Given the description of an element on the screen output the (x, y) to click on. 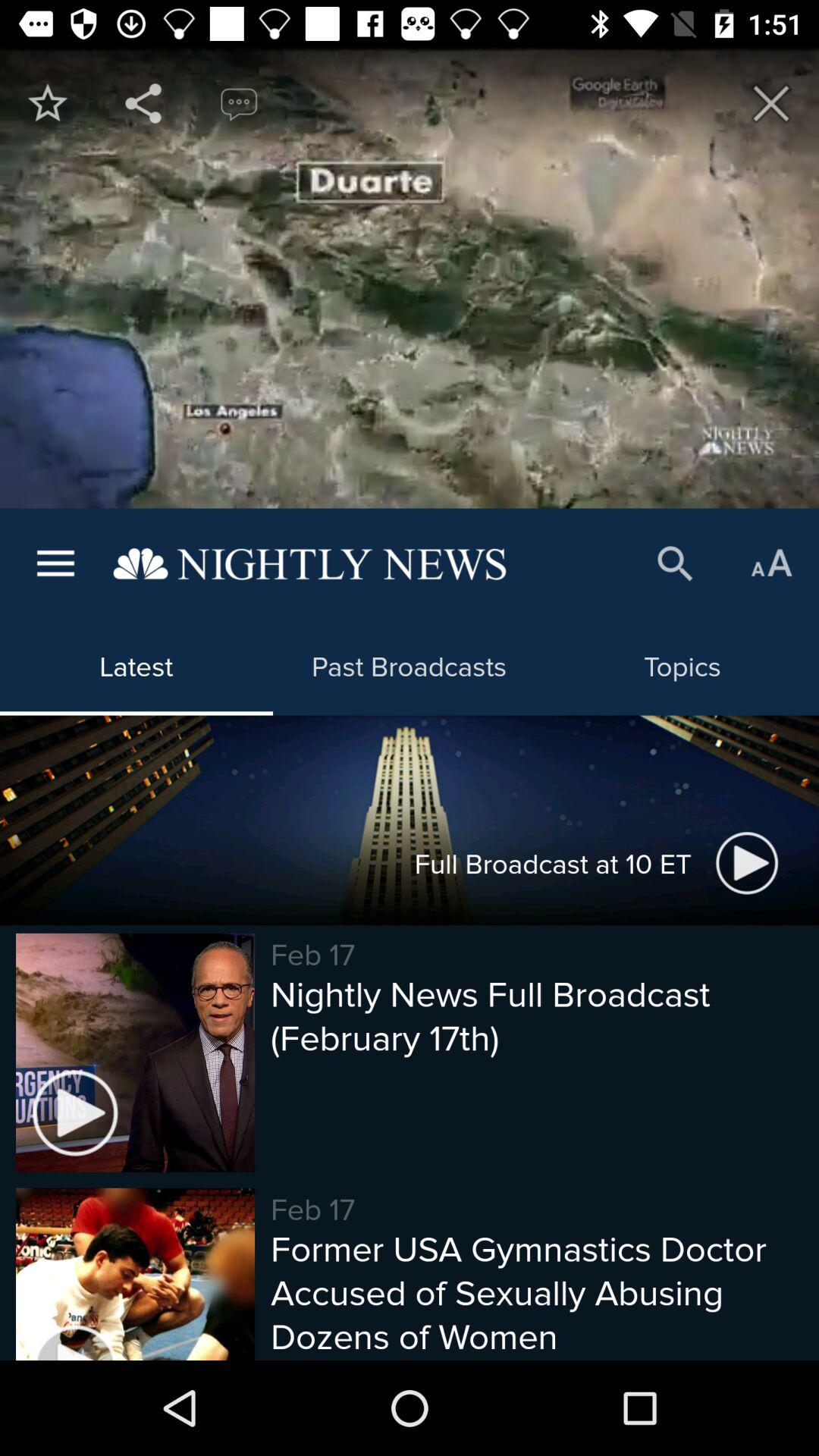
click the share icon button (142, 103)
click on message icon at top left (238, 103)
click the option which is beside the search option (771, 563)
click on cross icon at the top right corner below time (771, 103)
